Given the description of an element on the screen output the (x, y) to click on. 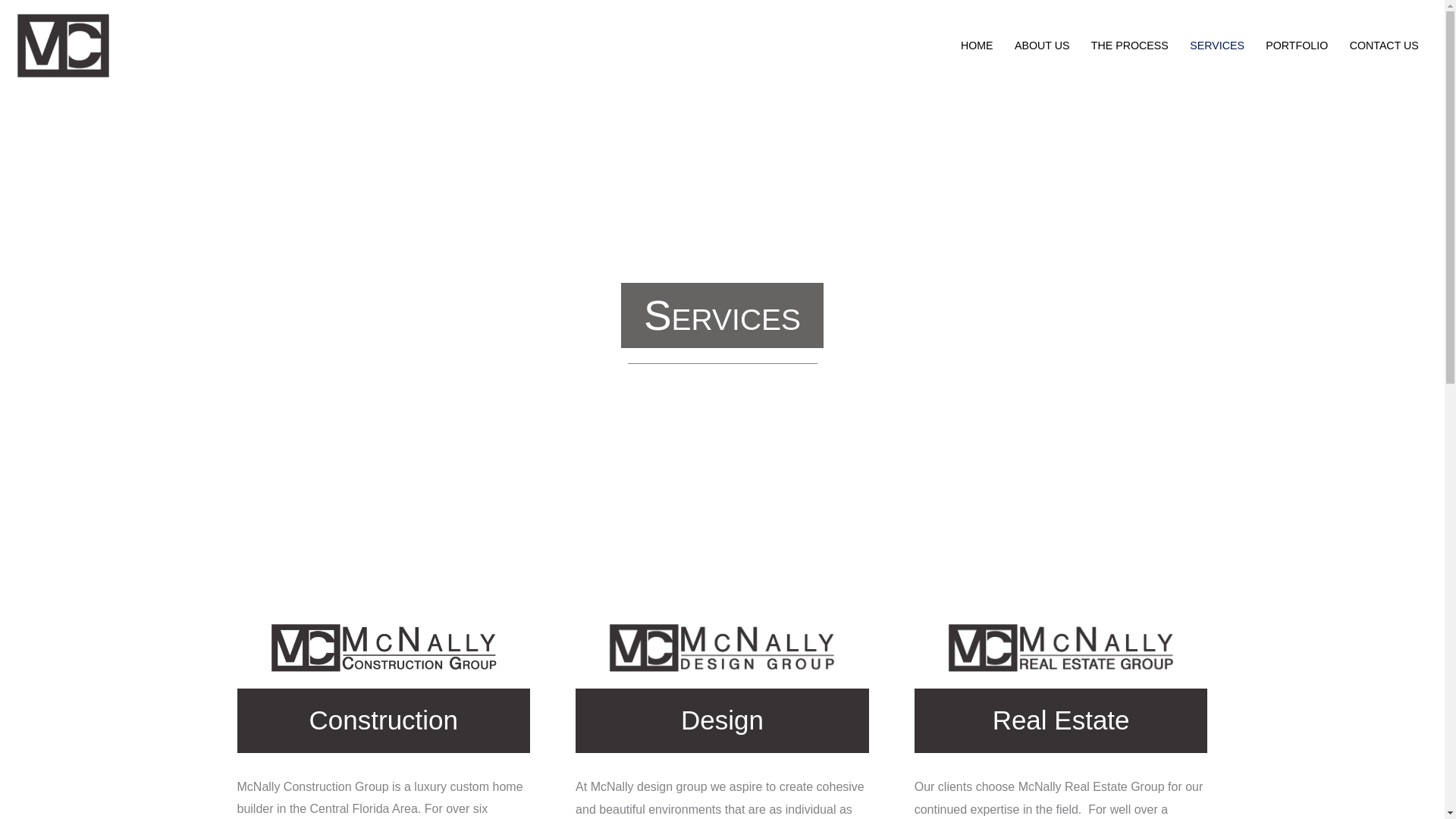
THE PROCESS (1129, 45)
CONTACT US (1383, 45)
Construction (382, 720)
Design (722, 720)
Real Estate (1061, 720)
PORTFOLIO (1296, 45)
